Given the description of an element on the screen output the (x, y) to click on. 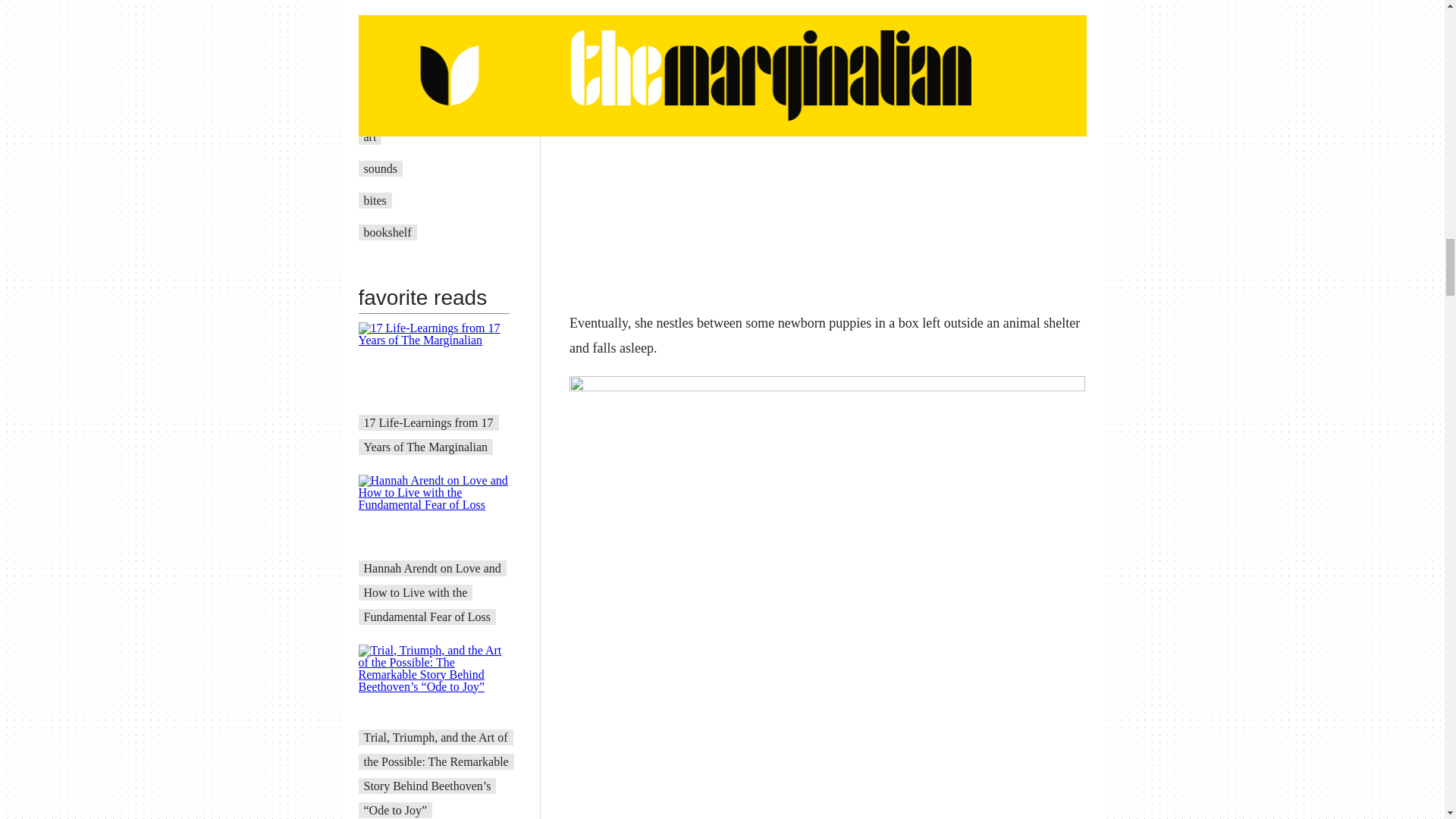
sounds (380, 168)
A Velocity of Being (412, 105)
bites (375, 200)
